Given the description of an element on the screen output the (x, y) to click on. 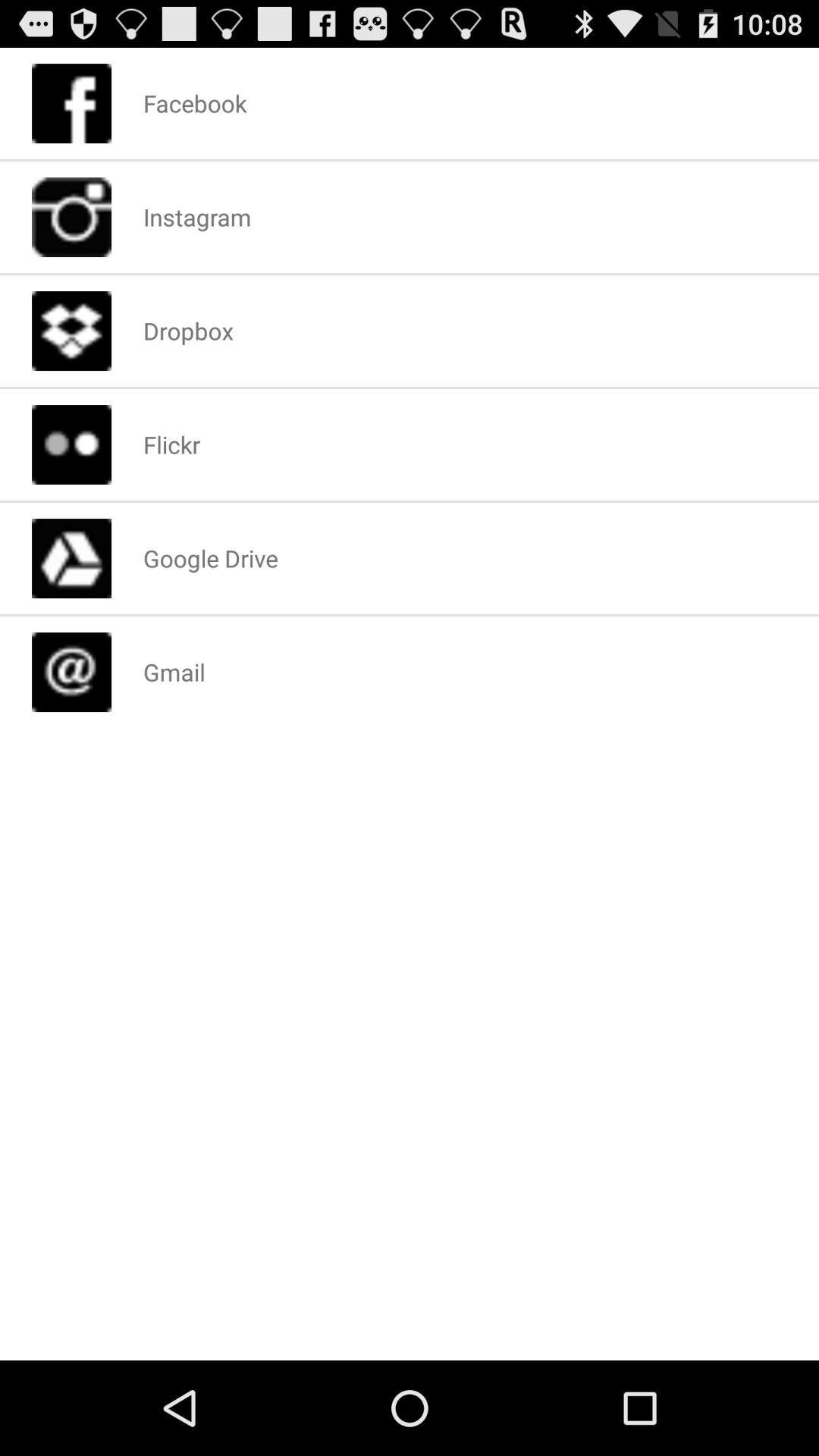
jump to the dropbox (188, 330)
